Given the description of an element on the screen output the (x, y) to click on. 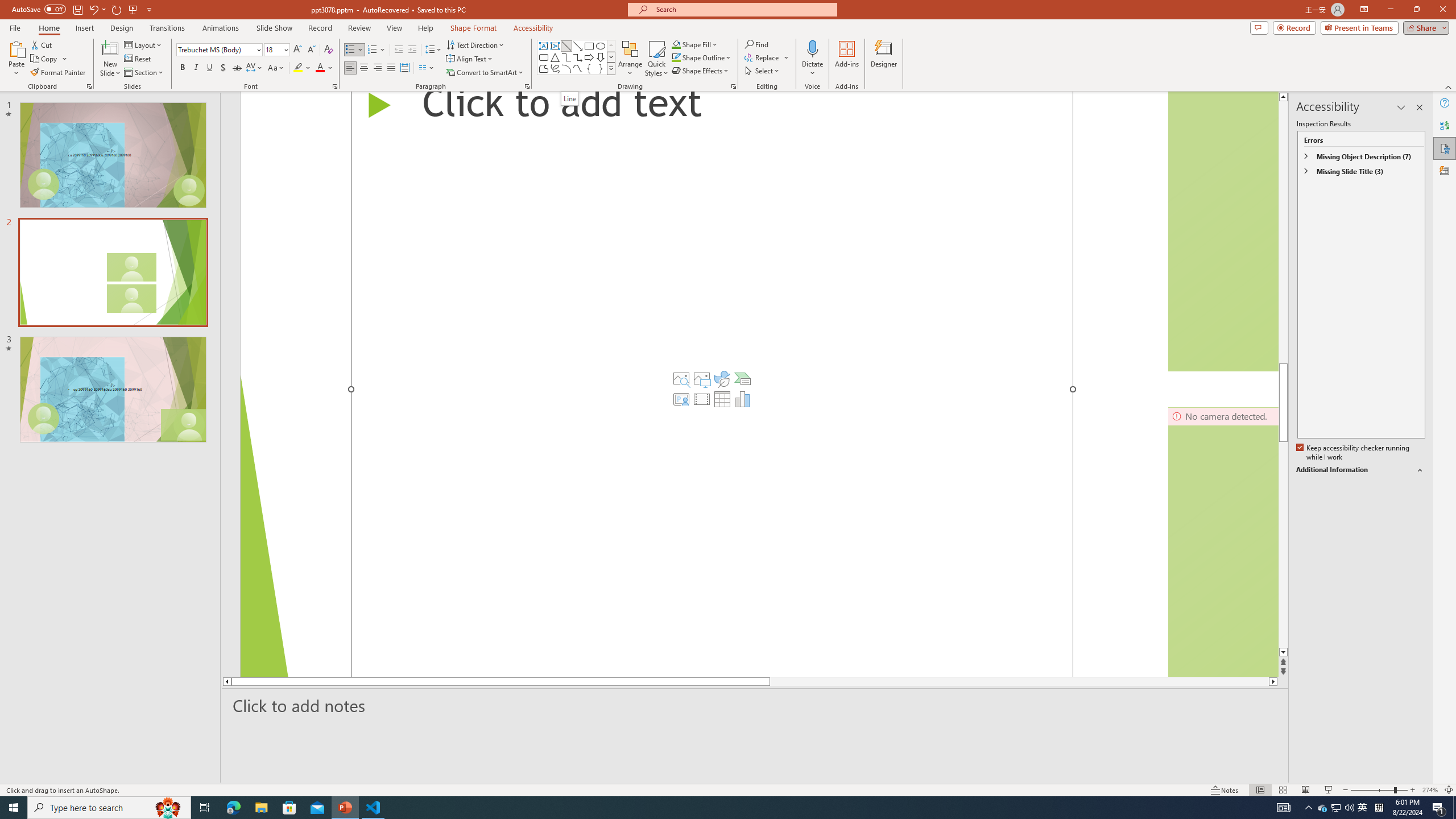
Font Size (276, 49)
Font Color Red (320, 67)
Justify (390, 67)
Shape Format (473, 28)
Text Direction (476, 44)
Notes  (1225, 790)
Designer (883, 58)
Italic (195, 67)
Shape Outline Green, Accent 1 (675, 56)
Arrow: Right (589, 57)
